Given the description of an element on the screen output the (x, y) to click on. 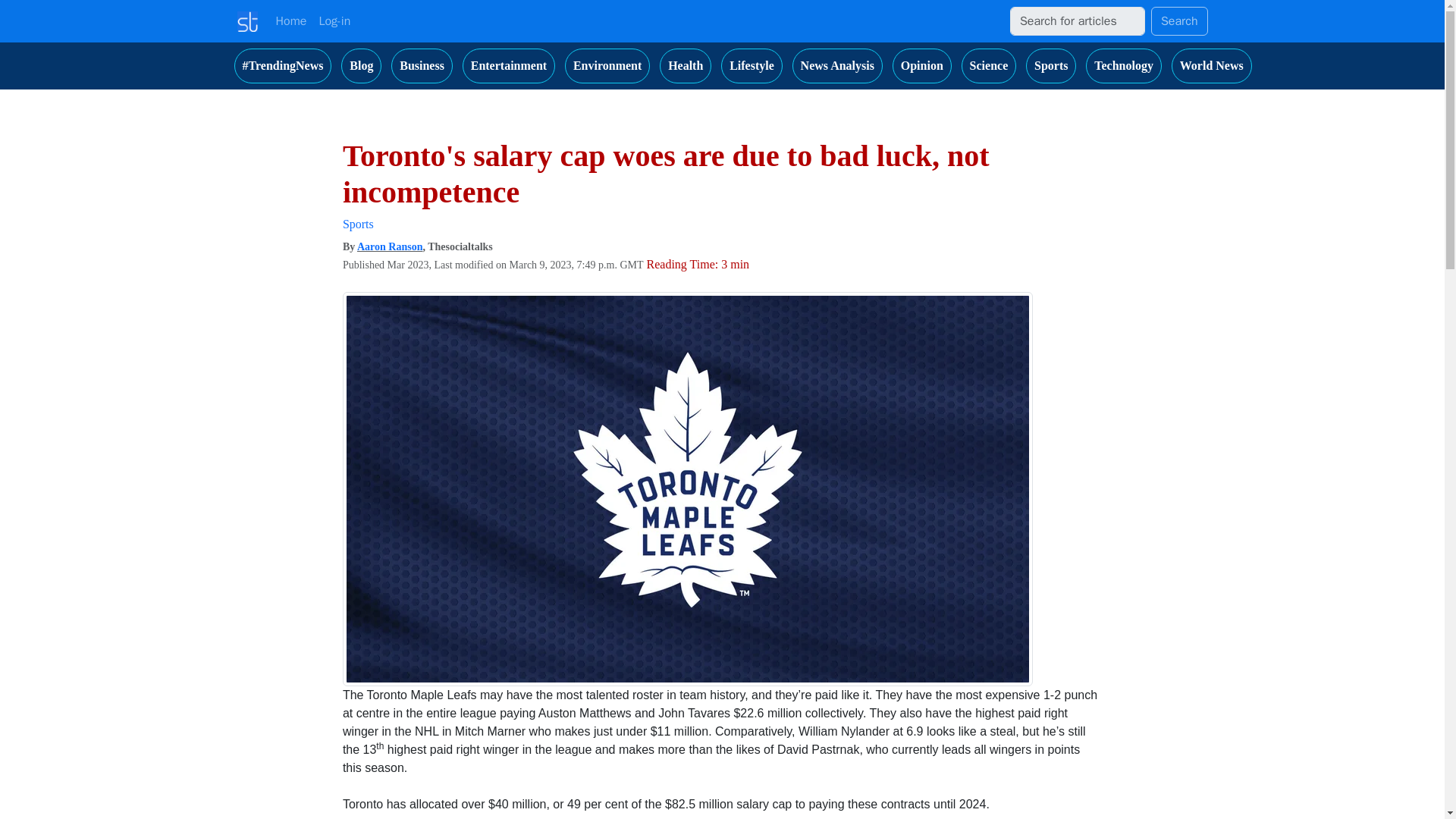
Home (291, 20)
Log-in (334, 20)
Technology (1123, 65)
Blog (360, 65)
Opinion (922, 65)
News Analysis (837, 65)
Environment (606, 65)
Lifestyle (751, 65)
World News (1212, 65)
Science (988, 65)
Business (421, 65)
Entertainment (508, 65)
Sports (1050, 65)
Aaron Ranson (389, 246)
Search (1179, 21)
